Given the description of an element on the screen output the (x, y) to click on. 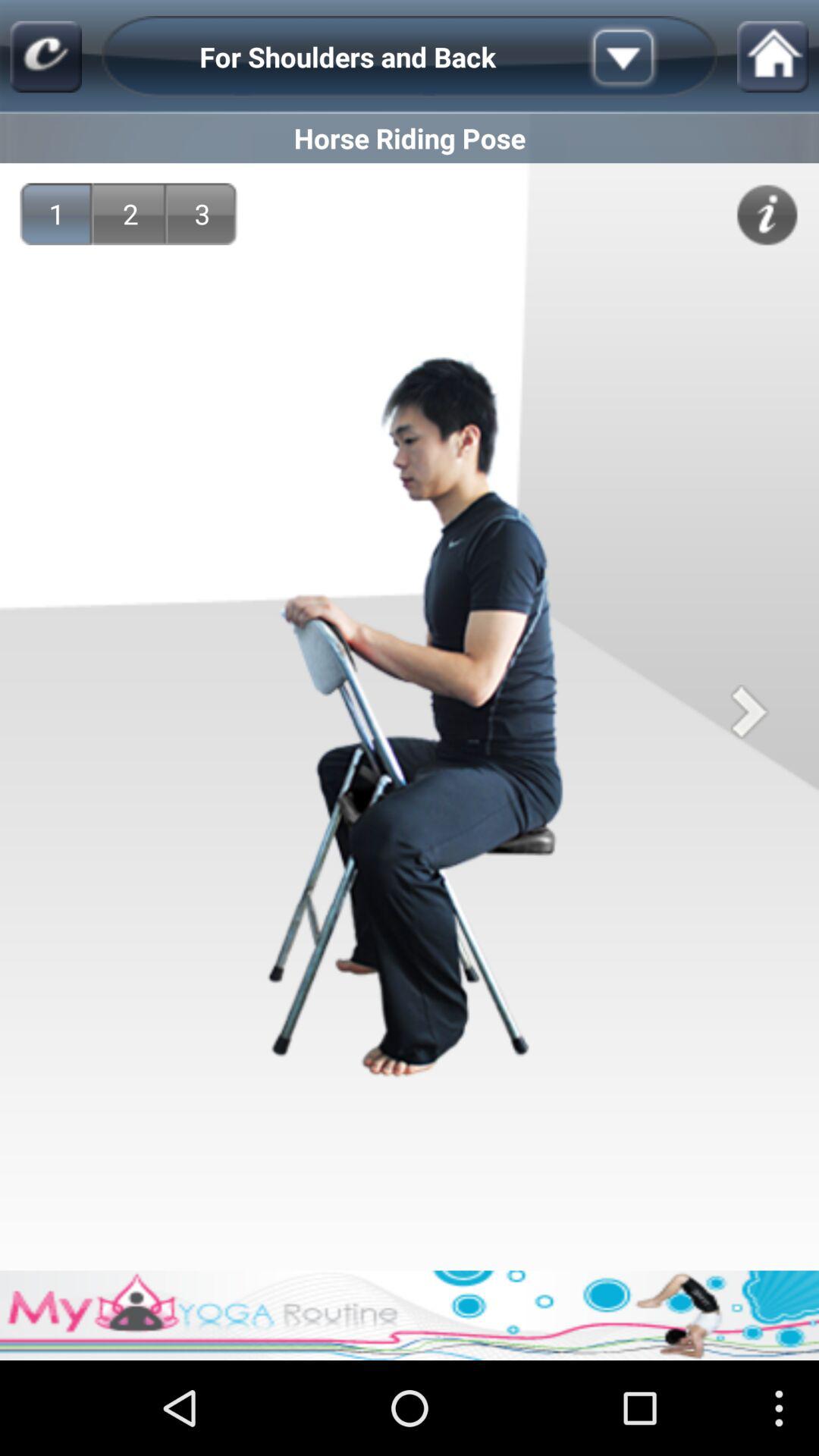
launch item to the right of the for shoulders and icon (646, 56)
